Given the description of an element on the screen output the (x, y) to click on. 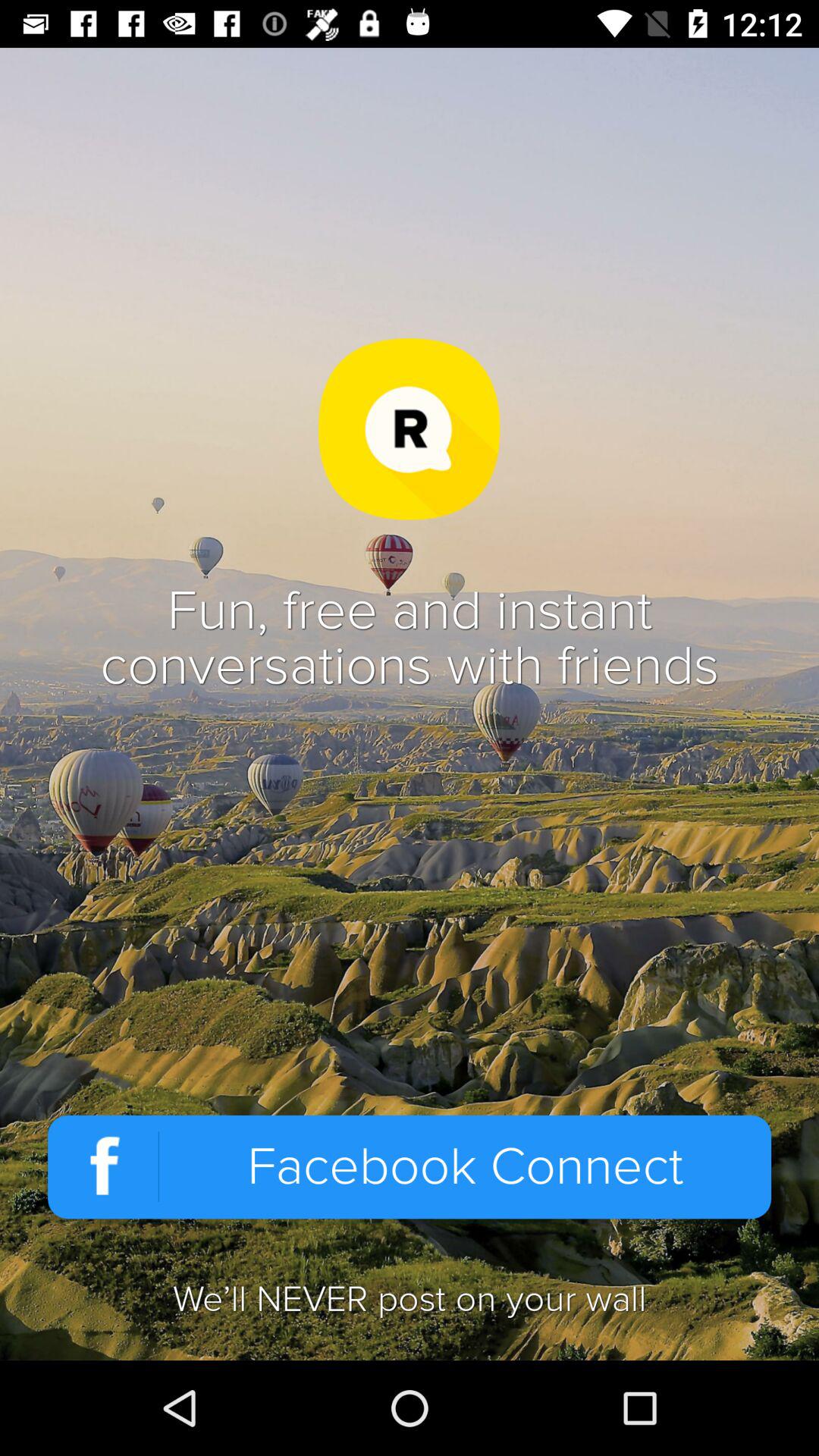
turn on the item below fun free and app (409, 1166)
